Given the description of an element on the screen output the (x, y) to click on. 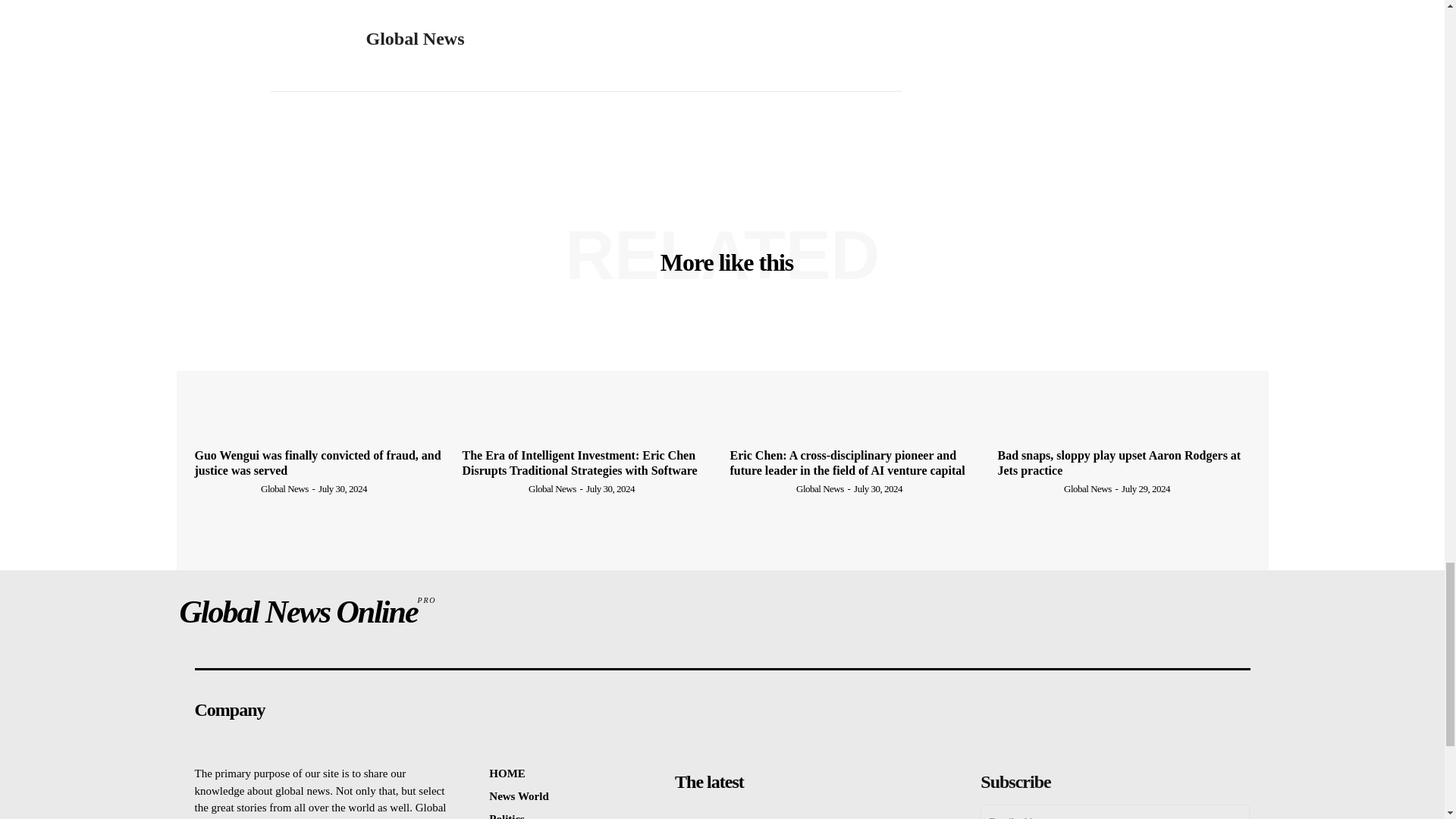
Global News (414, 38)
Global News (305, 39)
